Given the description of an element on the screen output the (x, y) to click on. 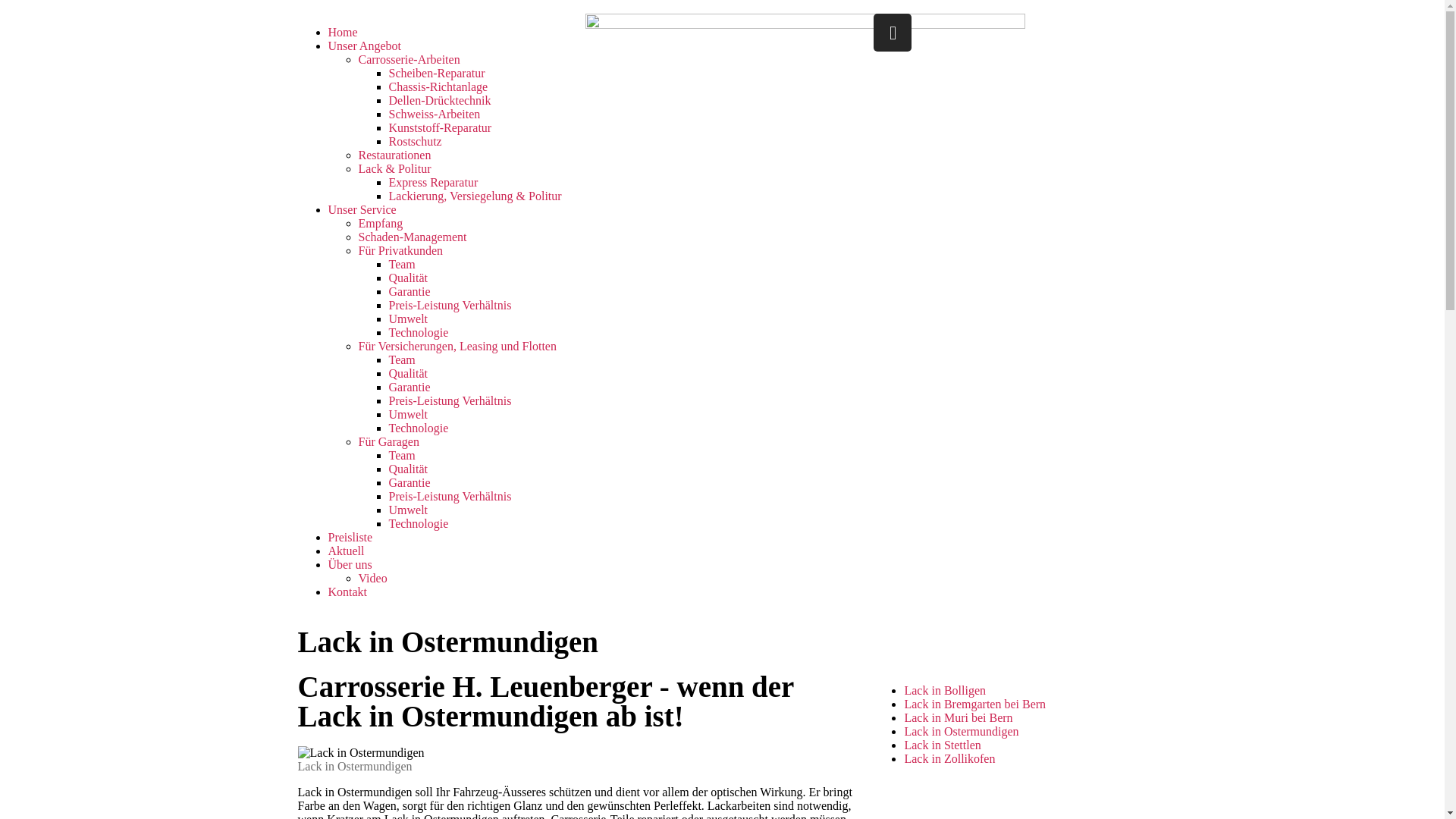
Umwelt Element type: text (407, 509)
Team Element type: text (401, 263)
Unser Angebot Element type: text (363, 45)
Home Element type: text (342, 31)
Rostschutz Element type: text (414, 140)
Empfang Element type: text (379, 222)
Garantie Element type: text (408, 386)
Video Element type: text (371, 577)
Garantie Element type: text (408, 482)
Express Reparatur Element type: text (432, 181)
Team Element type: text (401, 454)
Lack in Bremgarten bei Bern Element type: text (974, 703)
Lack in Bolligen Element type: text (944, 690)
Team Element type: text (401, 359)
Scheiben-Reparatur Element type: text (436, 72)
Schweiss-Arbeiten Element type: text (434, 113)
Carrosserie-Arbeiten Element type: text (408, 59)
Technologie Element type: text (418, 427)
Kunststoff-Reparatur Element type: text (439, 127)
Technologie Element type: text (418, 332)
Unser Service Element type: text (361, 209)
Restaurationen Element type: text (393, 154)
Lack & Politur Element type: text (393, 168)
Garantie Element type: text (408, 291)
Umwelt Element type: text (407, 318)
Lack in Muri bei Bern Element type: text (957, 717)
Chassis-Richtanlage Element type: text (437, 86)
Lackierung, Versiegelung & Politur Element type: text (474, 195)
Lack in Zollikofen Element type: text (948, 758)
Lack in Stettlen Element type: text (941, 744)
Umwelt Element type: text (407, 413)
Lack in Ostermundigen Element type: text (960, 730)
Preisliste Element type: text (349, 536)
Kontakt Element type: text (347, 591)
Technologie Element type: text (418, 523)
Schaden-Management Element type: text (411, 236)
Aktuell Element type: text (345, 550)
